Given the description of an element on the screen output the (x, y) to click on. 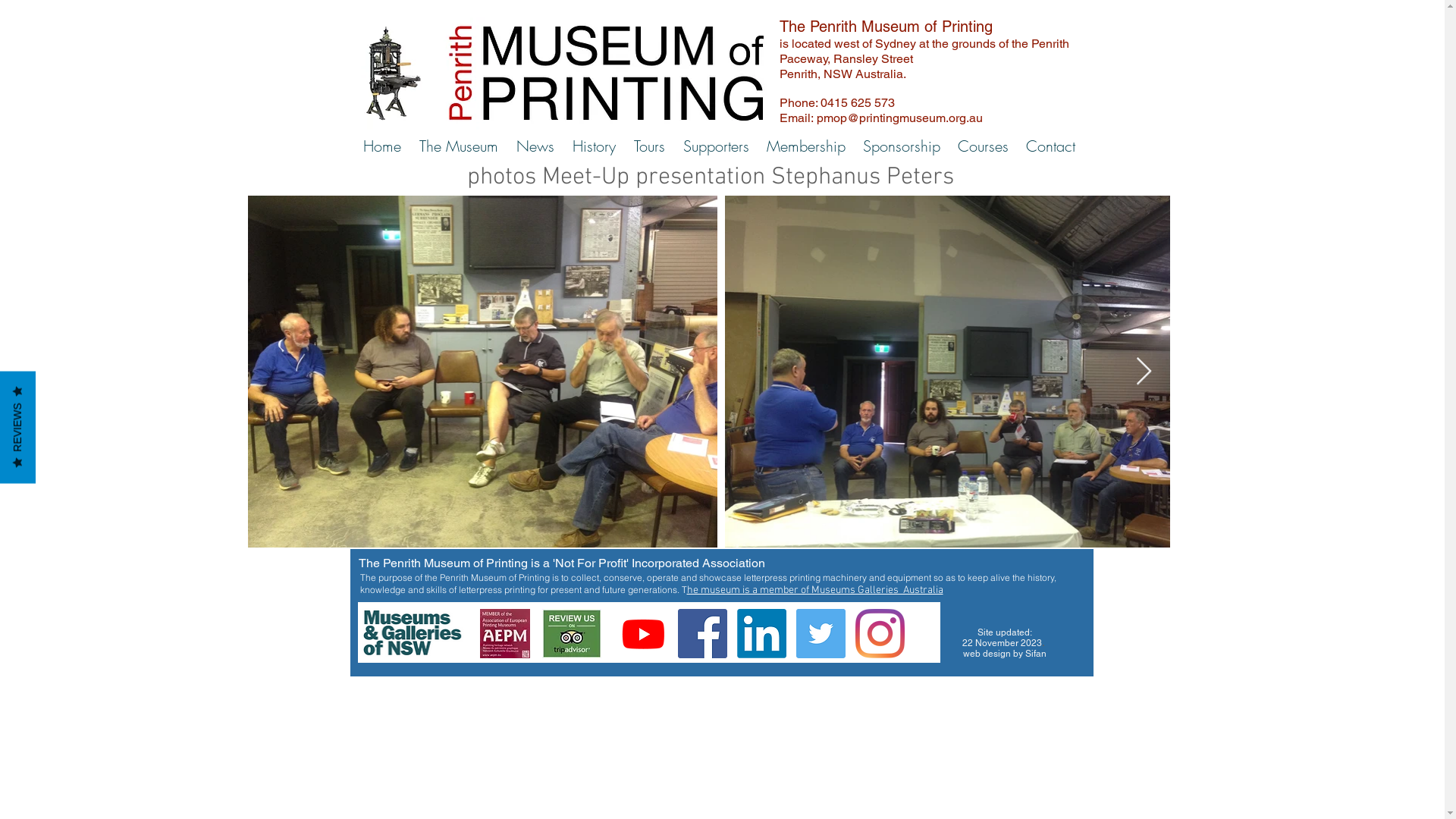
Membership Element type: text (806, 145)
Home Element type: text (381, 145)
Courses Element type: text (983, 145)
The Museum Element type: text (457, 145)
Supporters Element type: text (715, 145)
[MA] Element type: text (261, 566)
History Element type: text (593, 145)
he museum is a member of Museums Galleries  Australia Element type: text (815, 589)
pmop@printingmuseum.org.au Element type: text (898, 117)
Tours Element type: text (649, 145)
Wix Hit Counter Element type: hover (995, 611)
News Element type: text (534, 145)
 REVIEWS  Element type: text (56, 388)
Contact Element type: text (1050, 145)
Sponsorship Element type: text (900, 145)
